Given the description of an element on the screen output the (x, y) to click on. 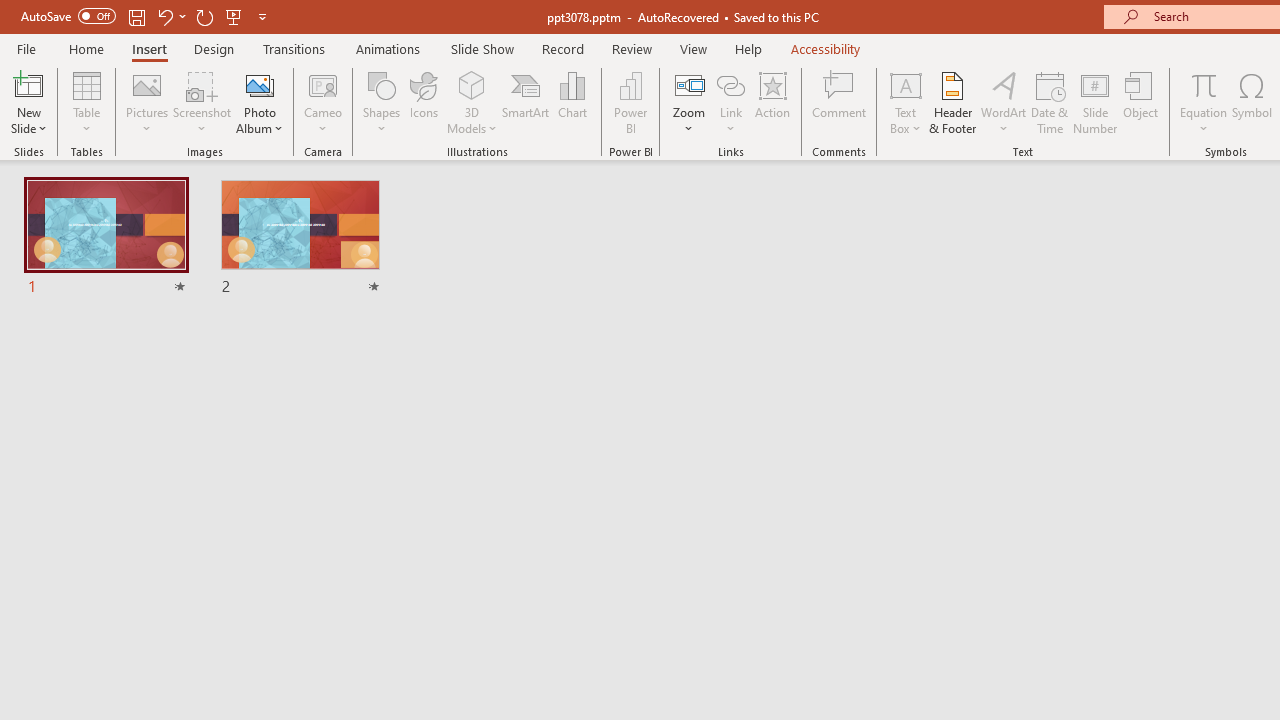
Shapes (381, 102)
Link (731, 84)
Chart... (572, 102)
Cameo (323, 102)
Slide Number (1095, 102)
Object... (1141, 102)
Draw Horizontal Text Box (905, 84)
